Given the description of an element on the screen output the (x, y) to click on. 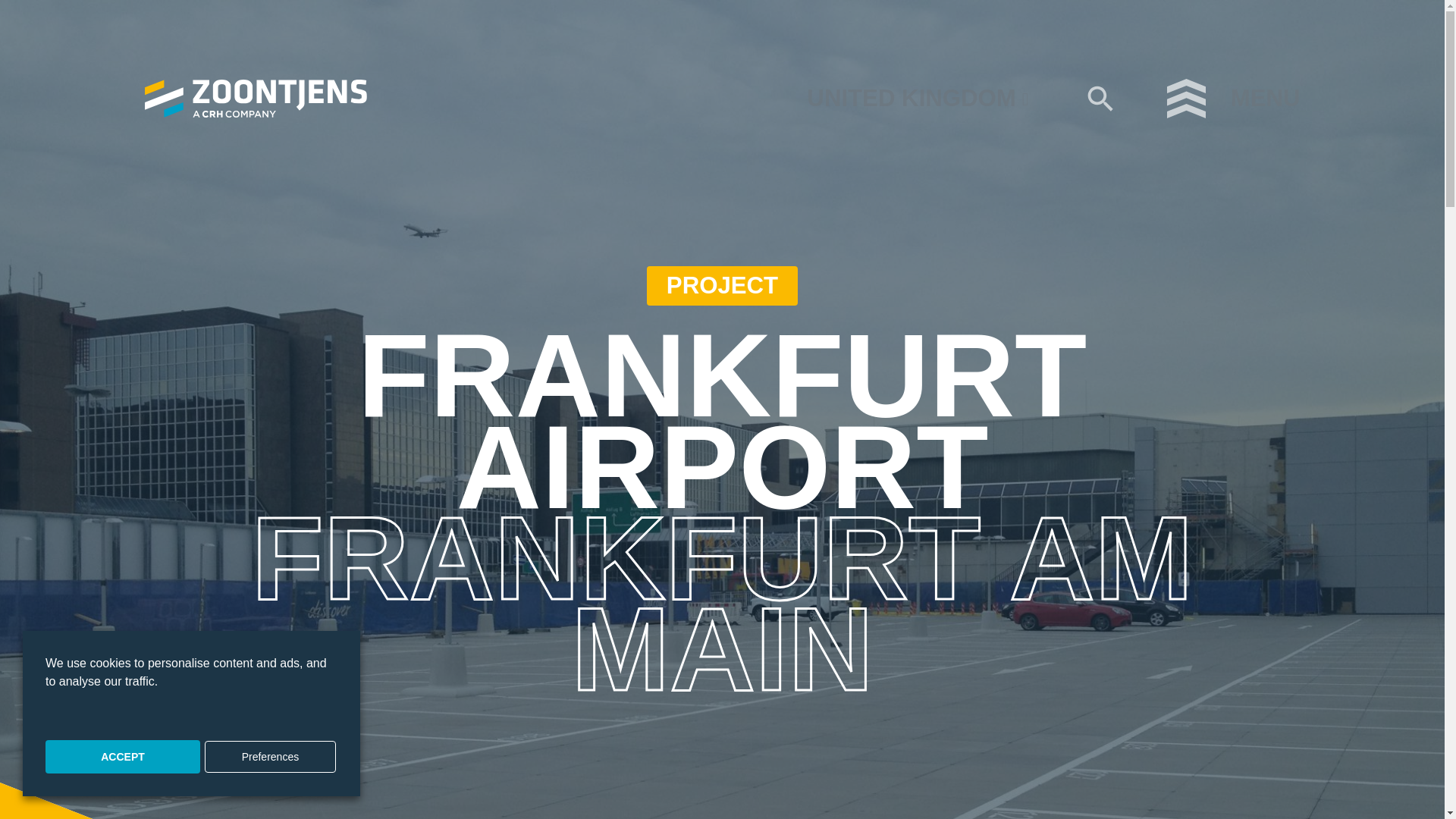
Zoontjens (255, 98)
UNITED KINGDOM (916, 98)
